Given the description of an element on the screen output the (x, y) to click on. 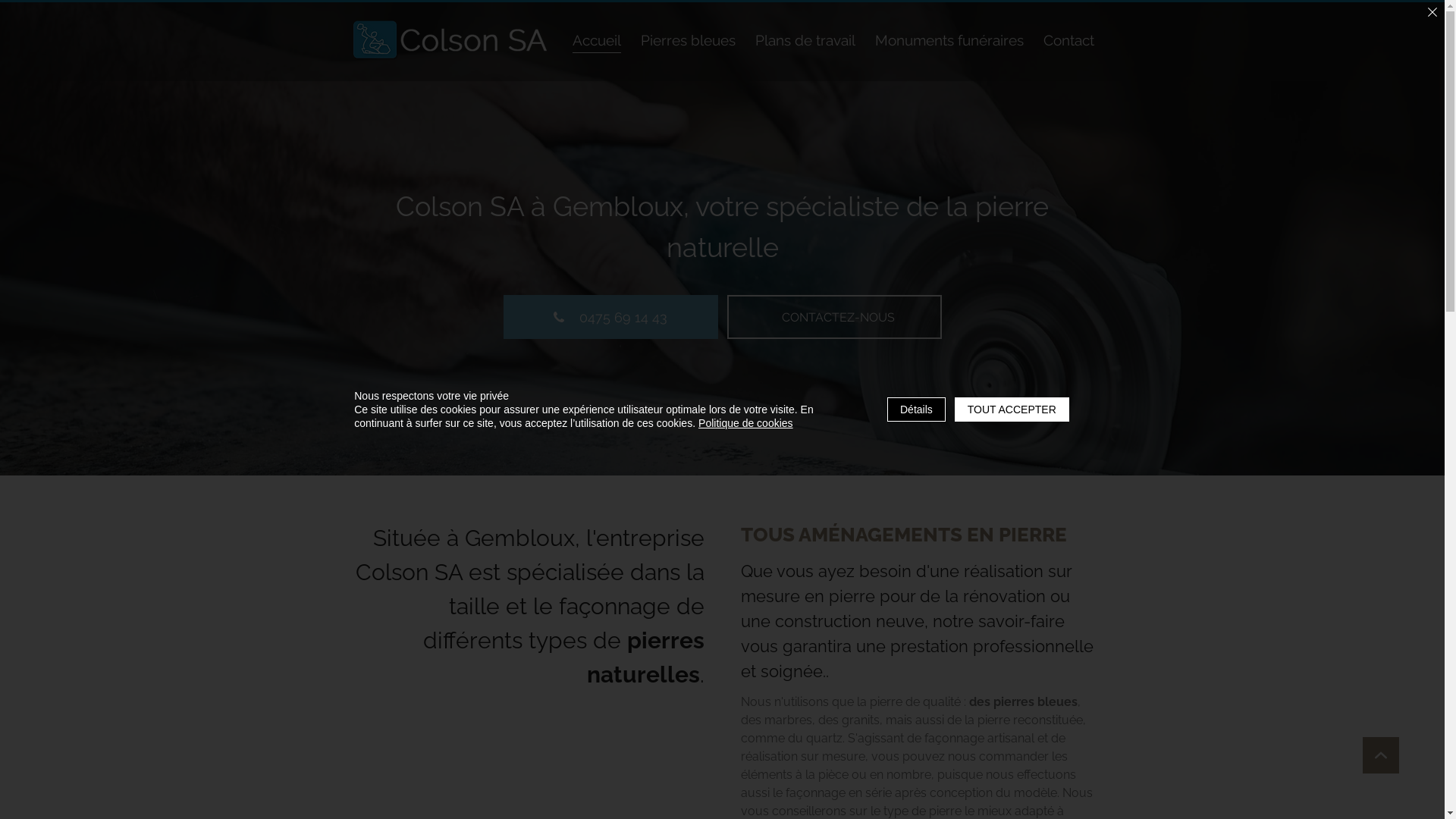
CONTACTEZ-NOUS Element type: text (833, 316)
Pierres bleues Element type: text (687, 40)
Politique de cookies Element type: text (745, 423)
Contact Element type: text (1068, 40)
Accueil Element type: text (595, 40)
0475 69 14 43 Element type: text (610, 316)
Plans de travail Element type: text (805, 40)
Colson SA Element type: hover (451, 39)
TOUT ACCEPTER Element type: text (1011, 409)
